Given the description of an element on the screen output the (x, y) to click on. 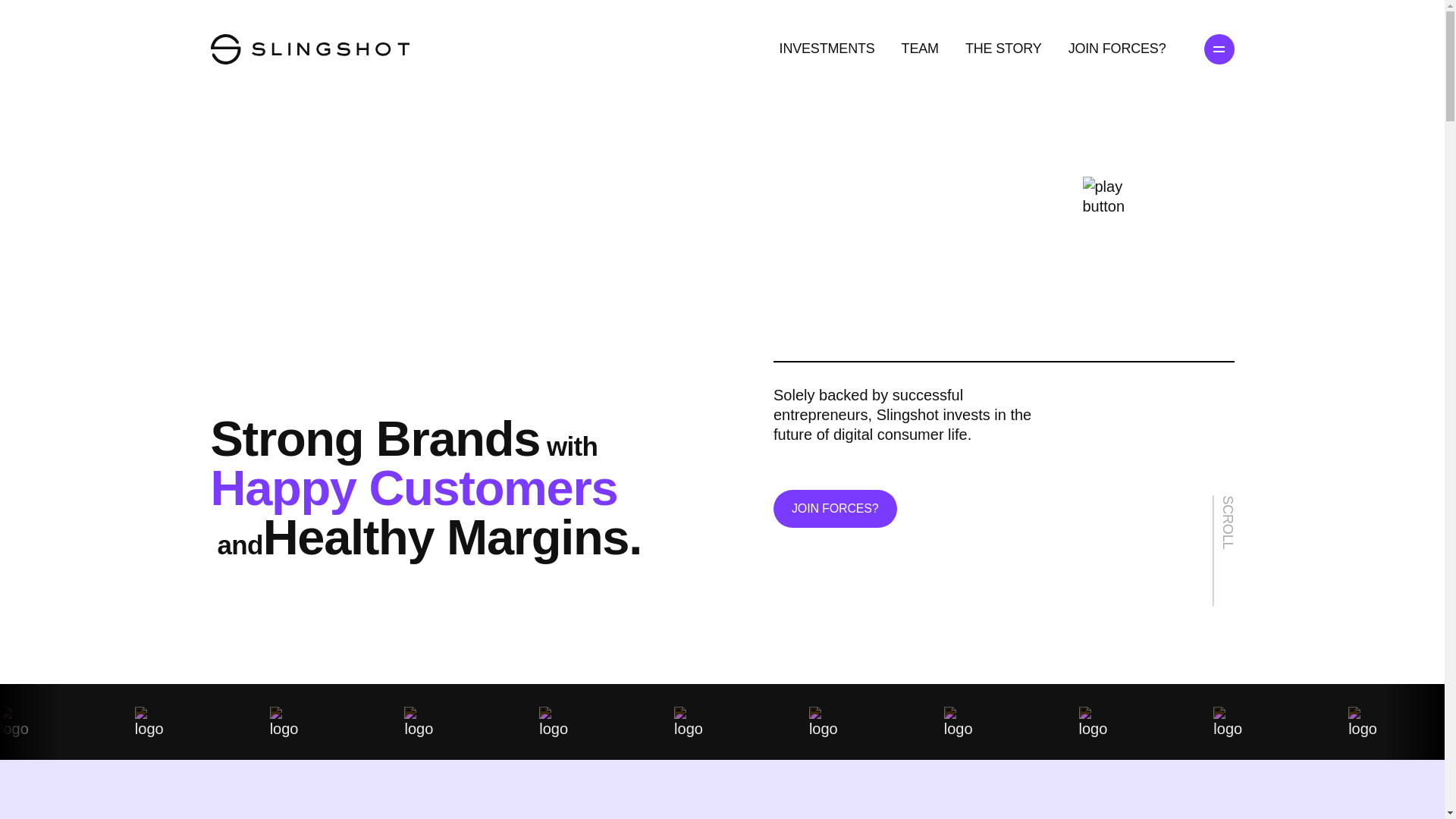
SCROLL (1267, 506)
JOIN FORCES? (1117, 48)
TEAM (920, 48)
THE STORY (1003, 48)
INVESTMENTS (826, 48)
SCROLL (1275, 503)
JOIN FORCES? (834, 508)
